Given the description of an element on the screen output the (x, y) to click on. 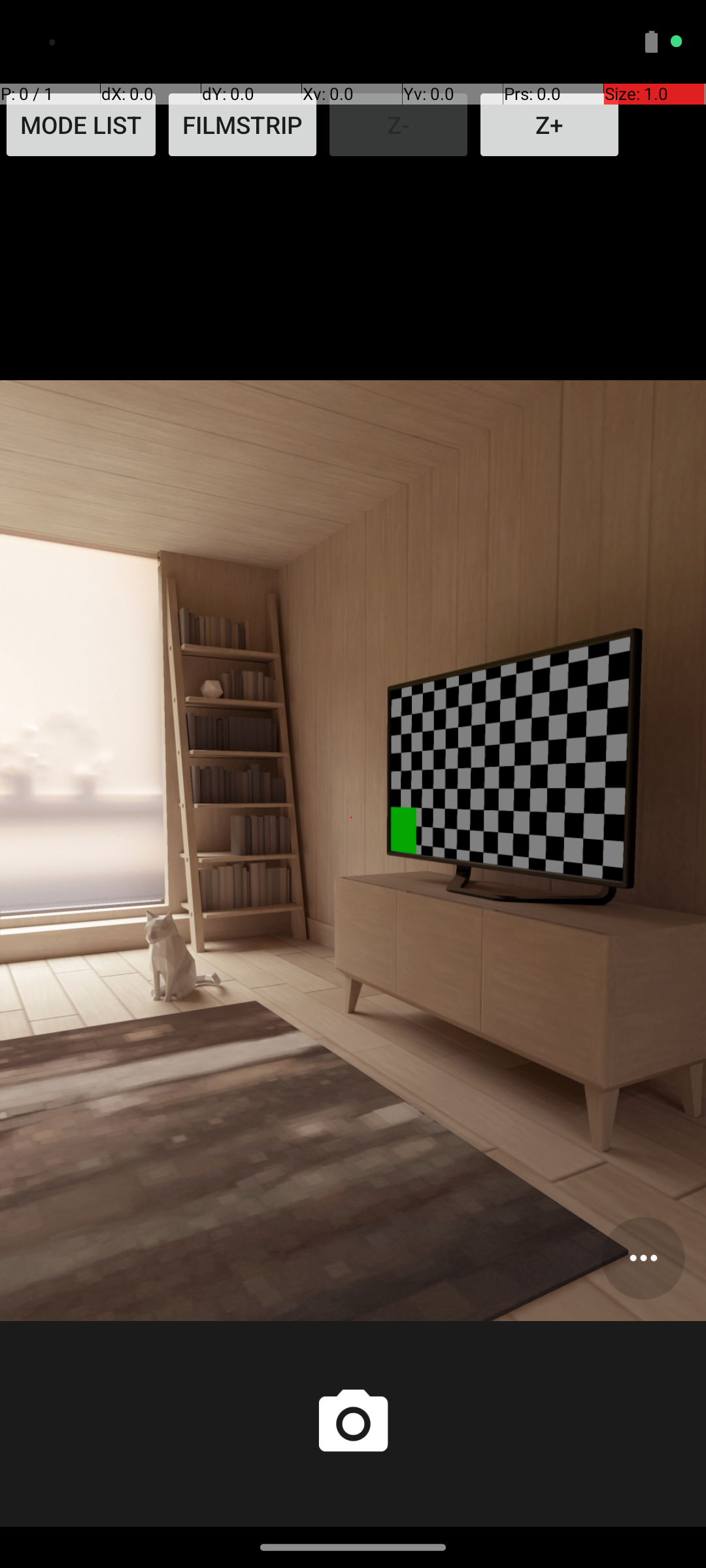
Options Element type: android.widget.LinearLayout (643, 1258)
Shutter Element type: android.widget.ImageView (353, 1423)
MODE LIST Element type: android.widget.Button (81, 124)
FILMSTRIP Element type: android.widget.Button (242, 124)
Z- Element type: android.widget.Button (397, 124)
Z+ Element type: android.widget.Button (548, 124)
Applications are using your camera. Element type: android.widget.FrameLayout (633, 41)
